Given the description of an element on the screen output the (x, y) to click on. 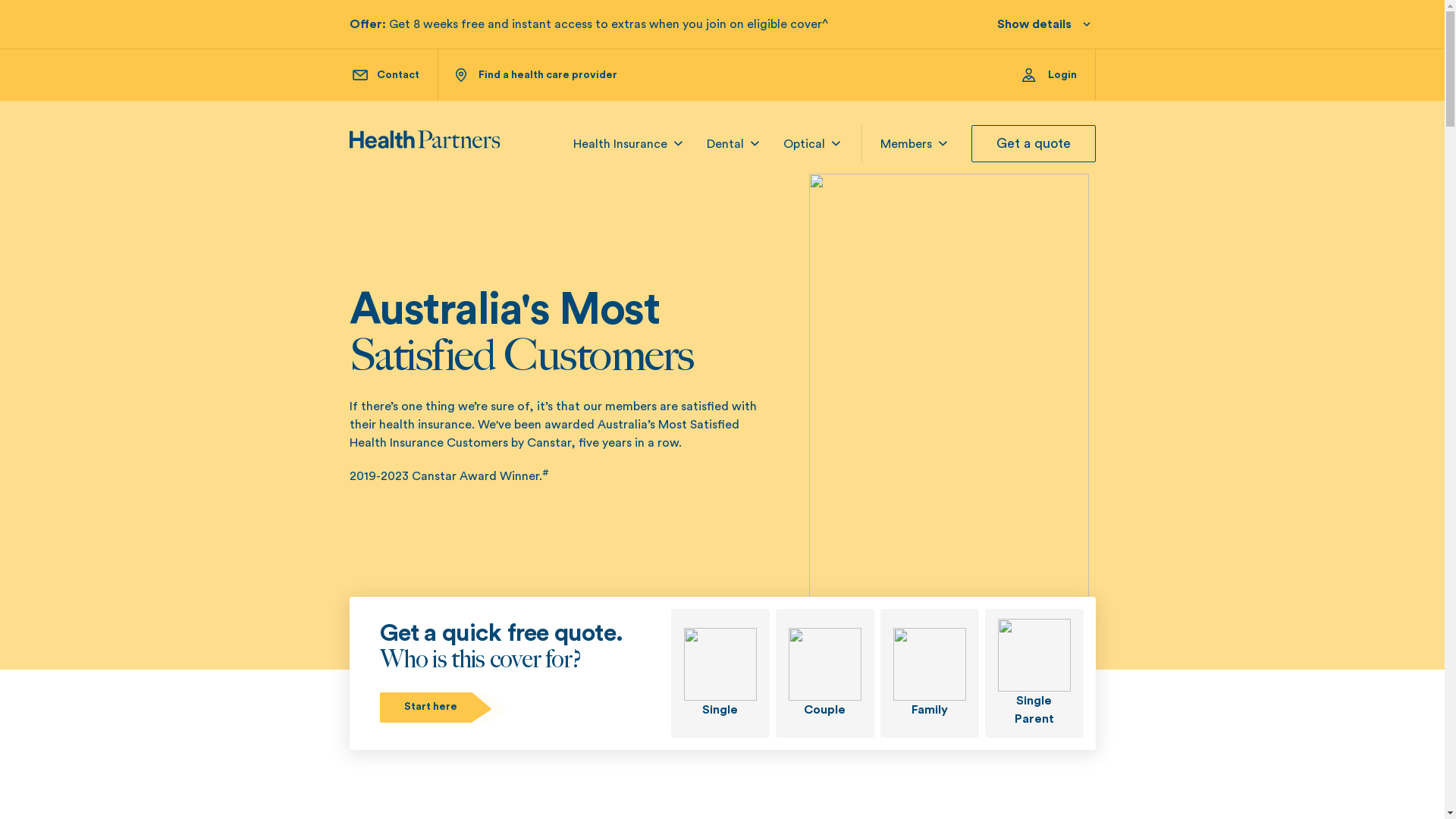
Couple Element type: text (824, 672)
Find a health care provider Element type: text (535, 74)
Get a quote Element type: text (1032, 143)
Single Parent Element type: text (1033, 672)
Single Element type: text (719, 672)
Login Element type: text (1058, 74)
Members Element type: text (905, 143)
Family Element type: text (928, 672)
Health Insurance Element type: text (620, 143)
Dental Element type: text (724, 143)
Start here Element type: text (443, 706)
Contact Element type: text (384, 74)
Optical Element type: text (803, 143)
